Given the description of an element on the screen output the (x, y) to click on. 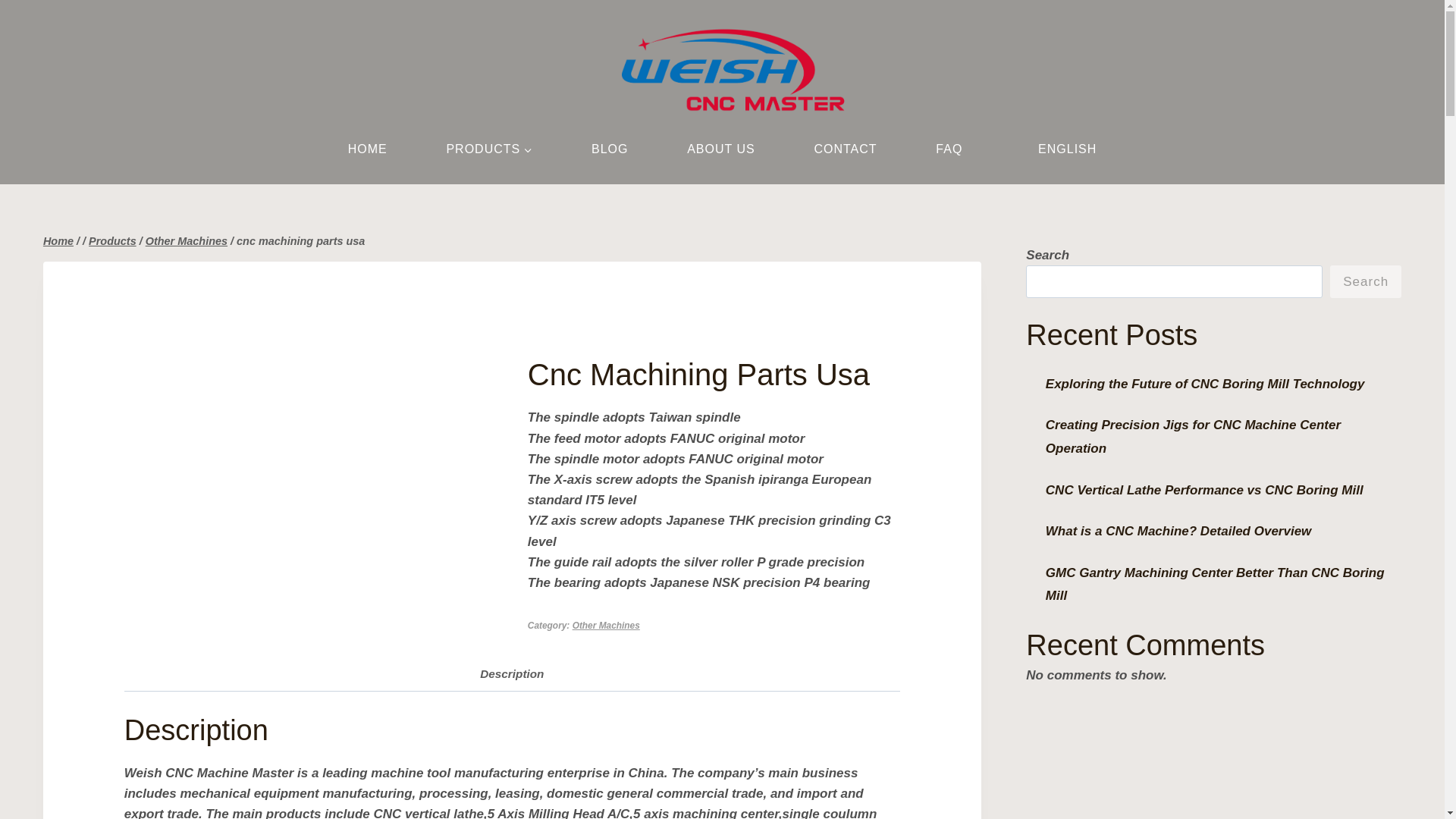
BLOG (610, 149)
PRODUCTS (489, 149)
ABOUT US (721, 149)
Products (112, 241)
Home (58, 241)
Description (511, 674)
CONTACT (845, 149)
FAQ (948, 149)
Other Machines (186, 241)
ENGLISH (1058, 149)
Other Machines (606, 624)
HOME (367, 149)
